Given the description of an element on the screen output the (x, y) to click on. 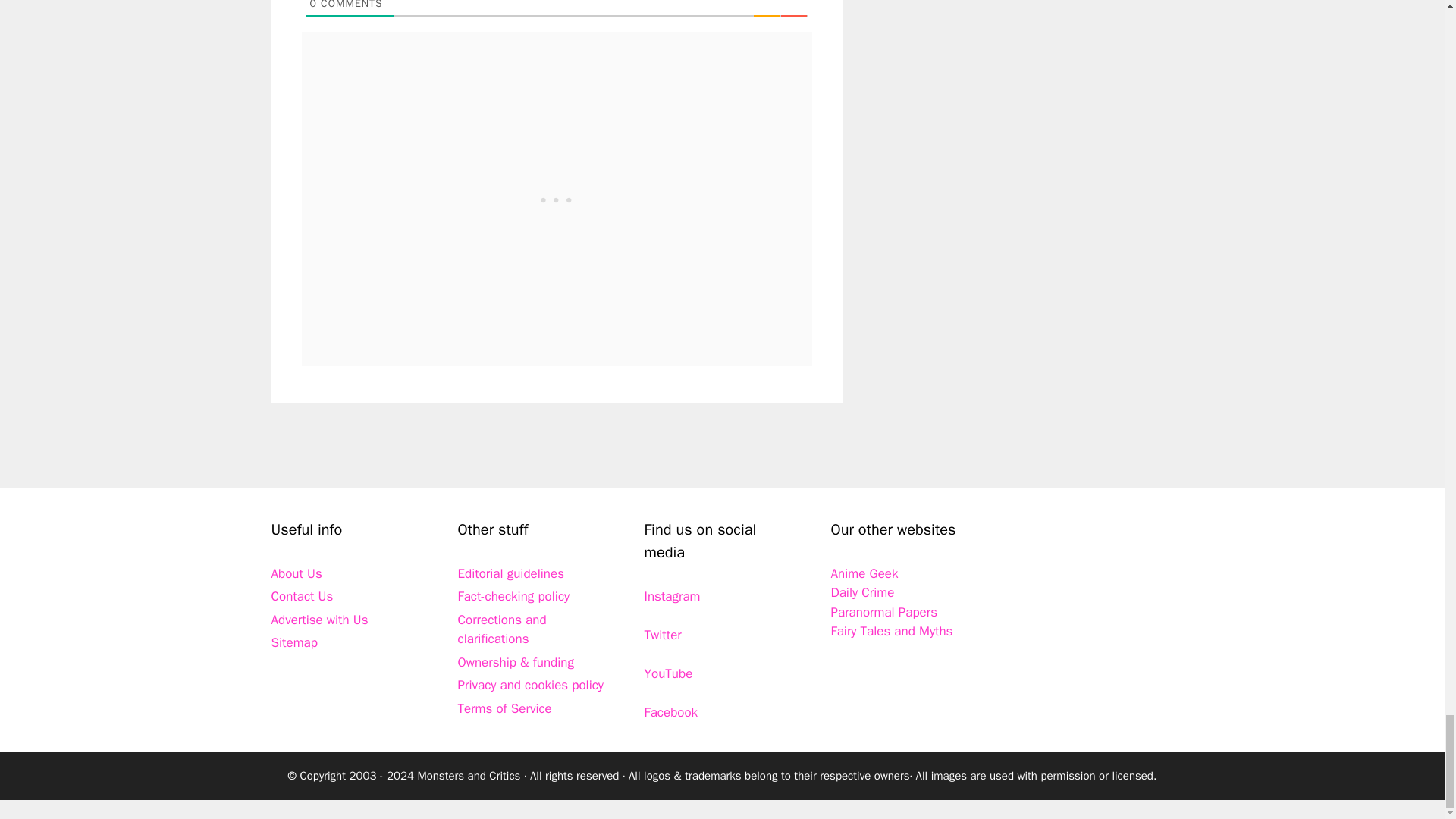
Corrections and clarifications (502, 629)
Contact Us (301, 596)
Advertise with Us (319, 619)
About Us (295, 573)
Terms of Service (504, 708)
Privacy and cookies policy (531, 684)
Sitemap (293, 642)
Editorial guidelines (511, 573)
Fact-checking policy (514, 596)
